Given the description of an element on the screen output the (x, y) to click on. 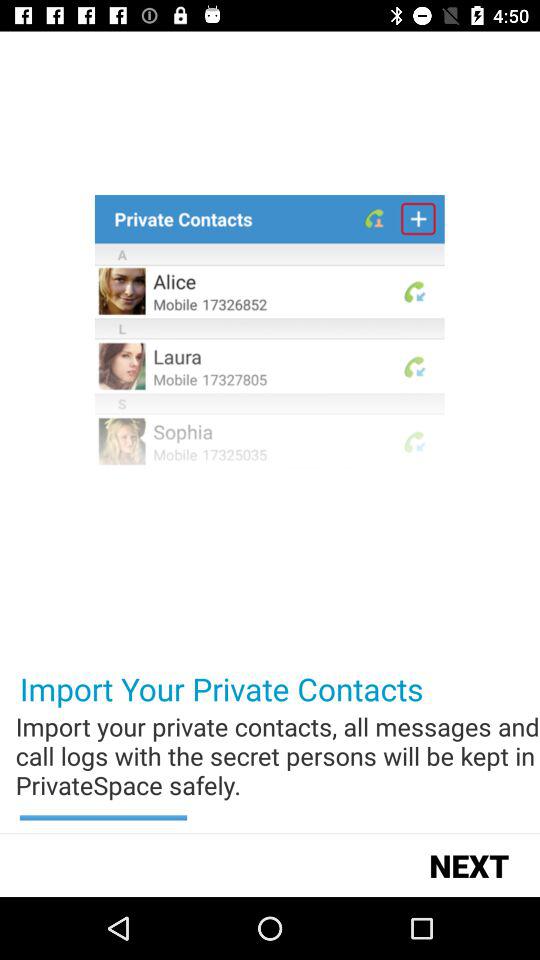
open next icon (468, 864)
